Given the description of an element on the screen output the (x, y) to click on. 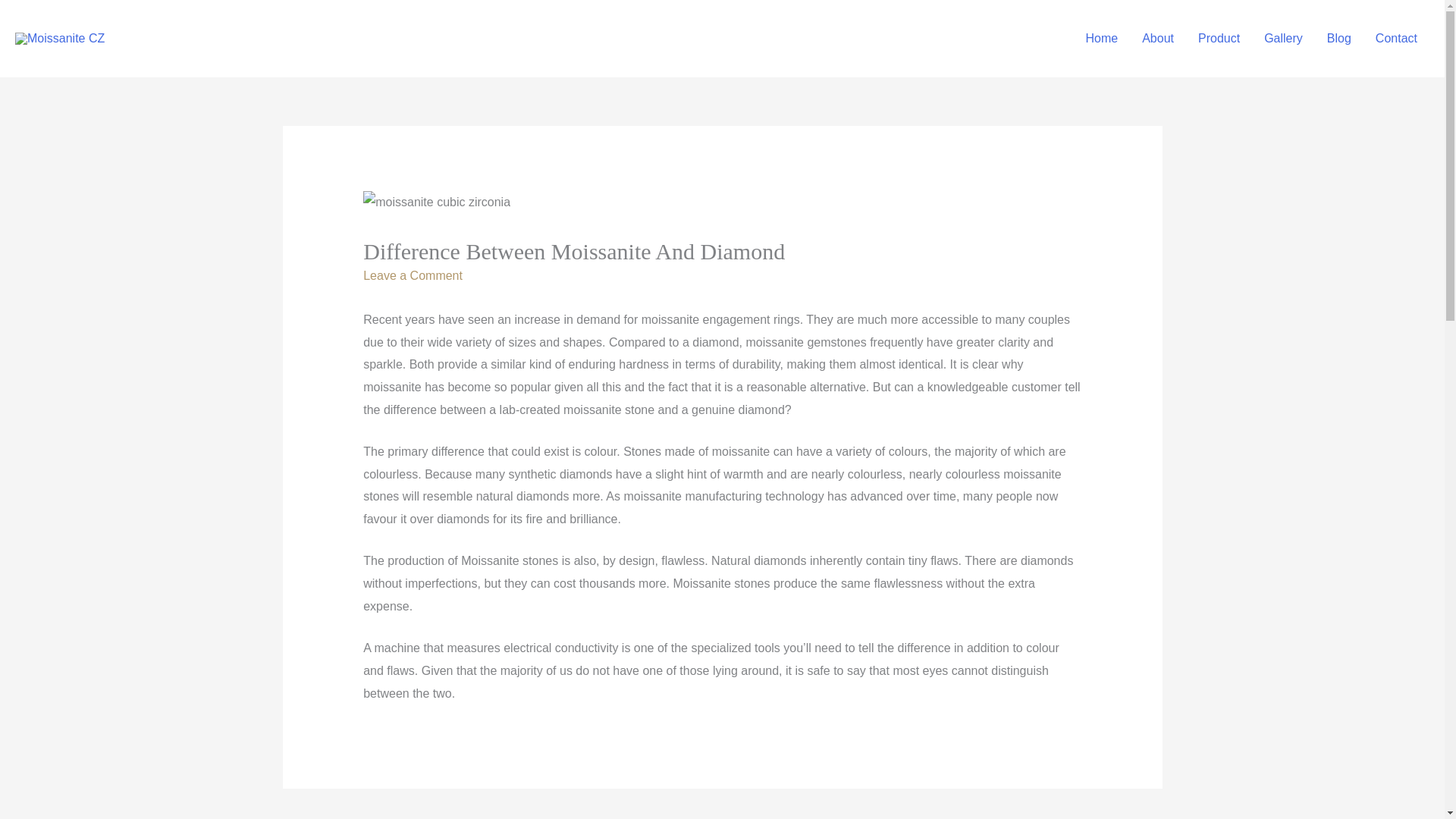
About (1157, 38)
Blog (1338, 38)
Product (1219, 38)
Contact (1395, 38)
Leave a Comment (412, 275)
Gallery (1283, 38)
Home (1102, 38)
